Given the description of an element on the screen output the (x, y) to click on. 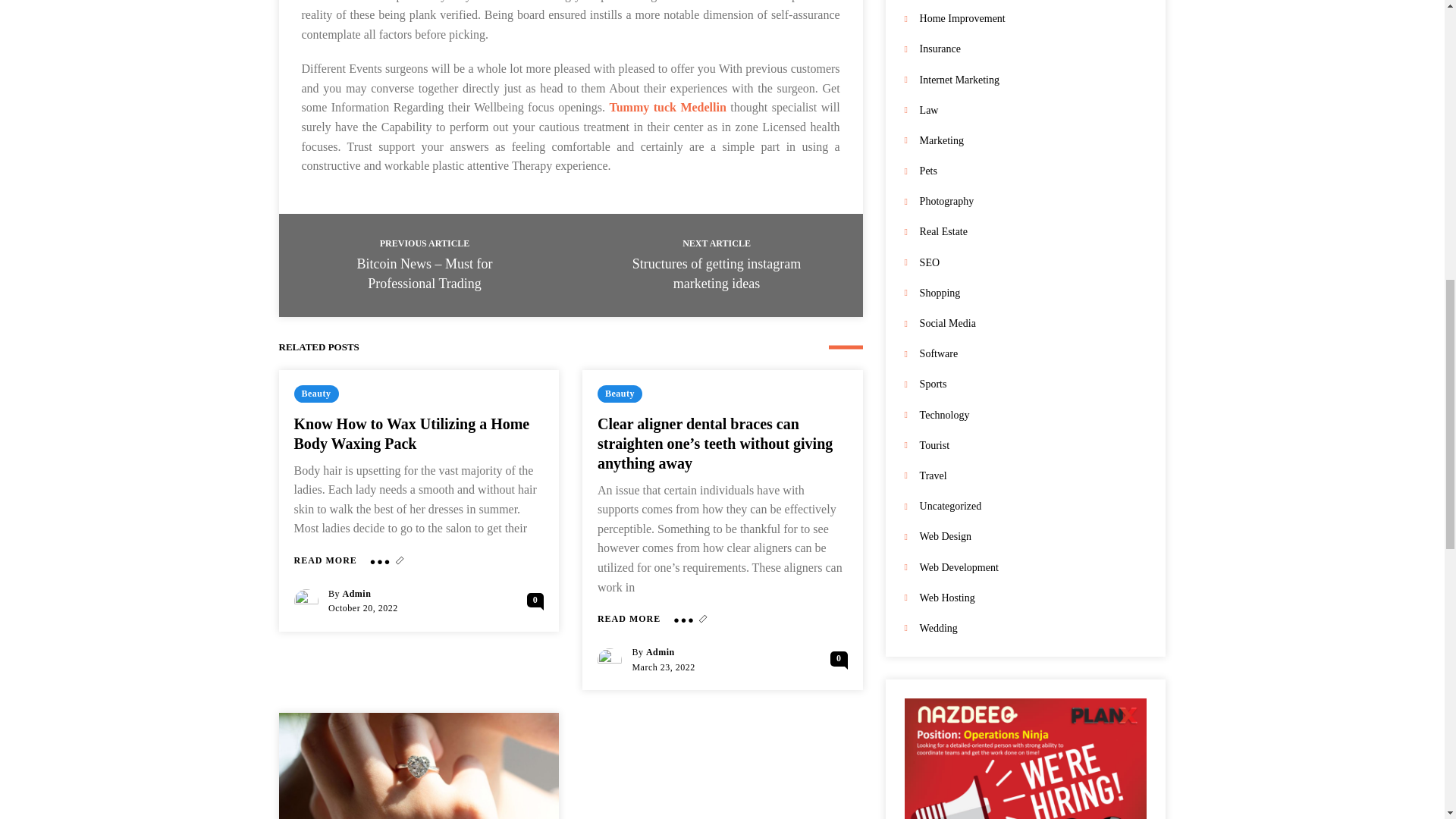
View all posts in Beauty (619, 393)
Know How to Wax Utilizing a Home Body Waxing Pack (325, 560)
Posts by admin (660, 652)
Structures of getting instagram marketing ideas (715, 273)
View all posts in Beauty (316, 393)
Know How to Wax Utilizing a Home Body Waxing Pack (411, 433)
March 23, 2022 (662, 666)
Posts by admin (356, 593)
Beauty (316, 393)
Admin (356, 593)
0 (535, 599)
Tummy tuck Medellin (666, 106)
Admin (660, 652)
Know How to Wax Utilizing a Home Body Waxing Pack (411, 433)
